Given the description of an element on the screen output the (x, y) to click on. 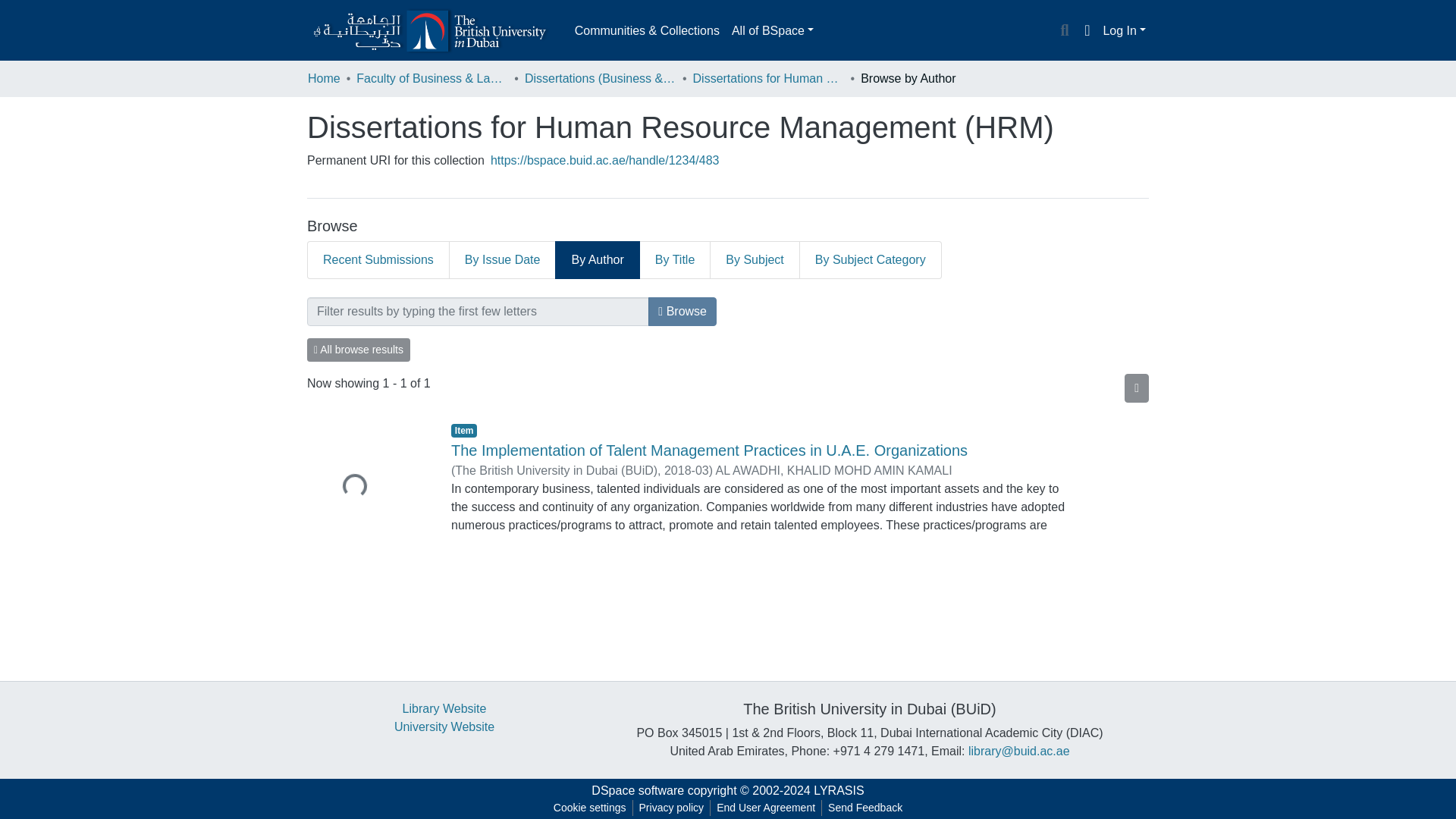
By Title (675, 259)
By Subject Category (870, 259)
Home (323, 78)
By Subject (754, 259)
Search (1064, 30)
Recent Submissions (378, 259)
By Author (596, 259)
Language switch (1086, 30)
By Issue Date (502, 259)
Log In (1123, 30)
All of BSpace (772, 30)
Browse (681, 311)
All browse results (358, 349)
